Given the description of an element on the screen output the (x, y) to click on. 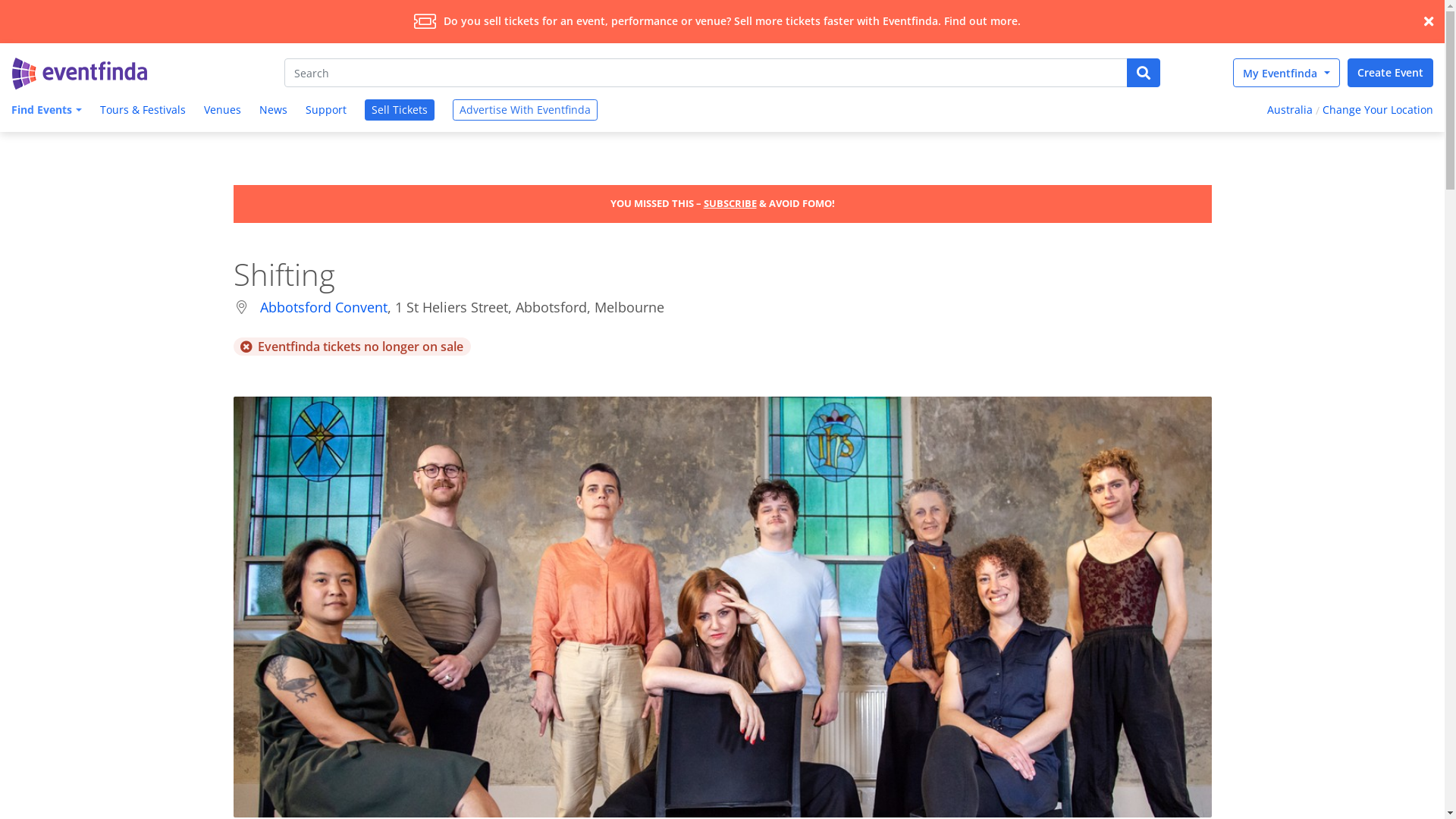
News Element type: text (272, 110)
SUBSCRIBE Element type: text (729, 203)
eventfinda.com.au - What's on in Australia Element type: text (79, 73)
Advertise With Eventfinda Element type: text (524, 109)
Support Element type: text (326, 110)
Create Event Element type: text (1390, 72)
Sell Tickets Element type: text (399, 109)
Tours & Festivals Element type: text (142, 110)
Venues Element type: text (222, 110)
Change Your Location Element type: text (1379, 110)
My Eventfinda Element type: text (1286, 72)
Shifting Element type: hover (722, 607)
Australia Element type: text (1287, 110)
Find Events Element type: text (44, 110)
Search Element type: hover (705, 72)
Abbotsford Convent Element type: text (322, 307)
